Given the description of an element on the screen output the (x, y) to click on. 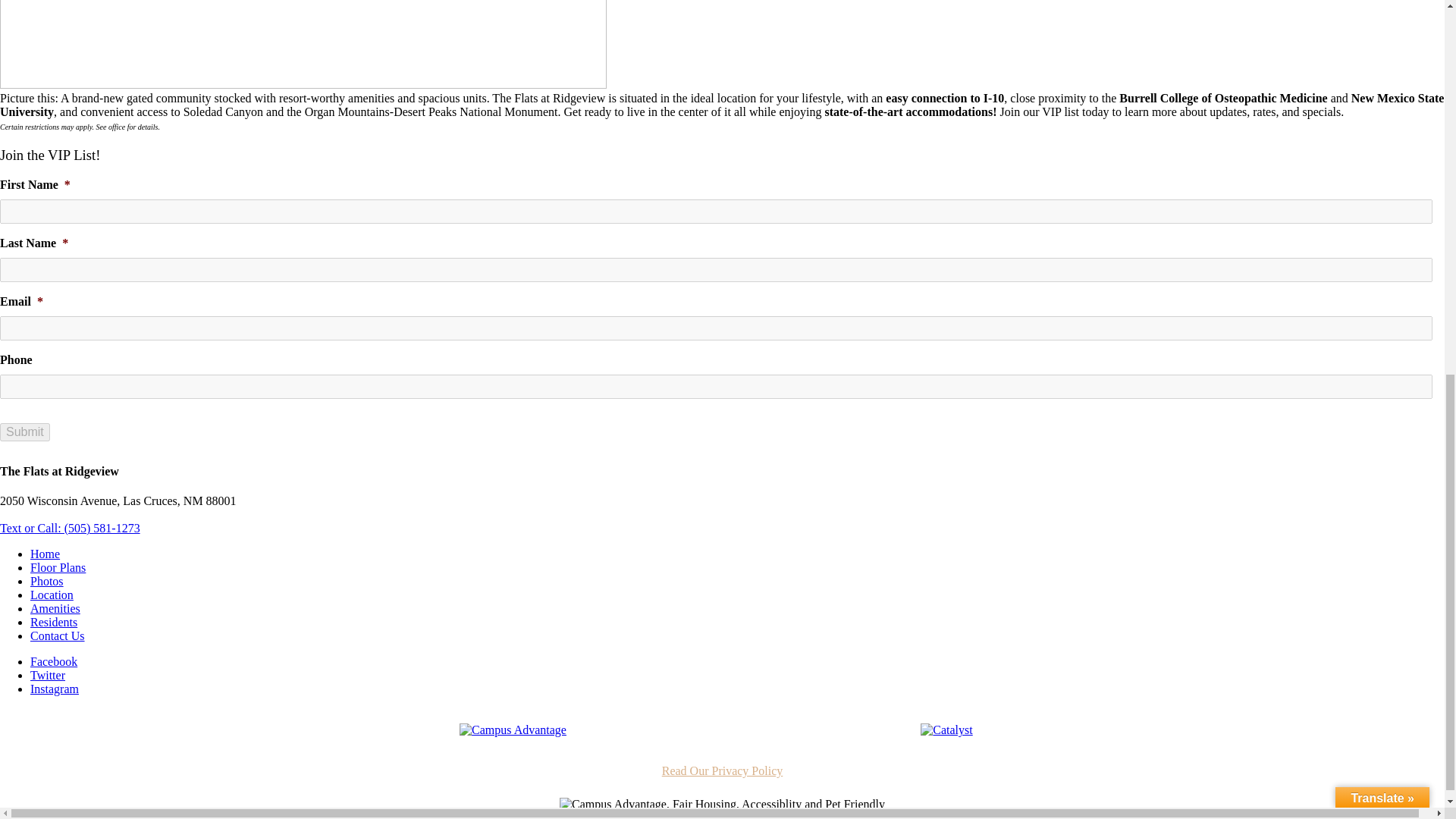
Submit (24, 432)
Home (44, 553)
Residents (53, 621)
Twitter (47, 675)
Facebook (53, 661)
Location (52, 594)
Read Our Privacy Policy (722, 770)
Amenities (55, 608)
Floor Plans (57, 567)
Contact Us (57, 635)
Photos (47, 581)
Instagram (54, 688)
Submit (24, 432)
